Given the description of an element on the screen output the (x, y) to click on. 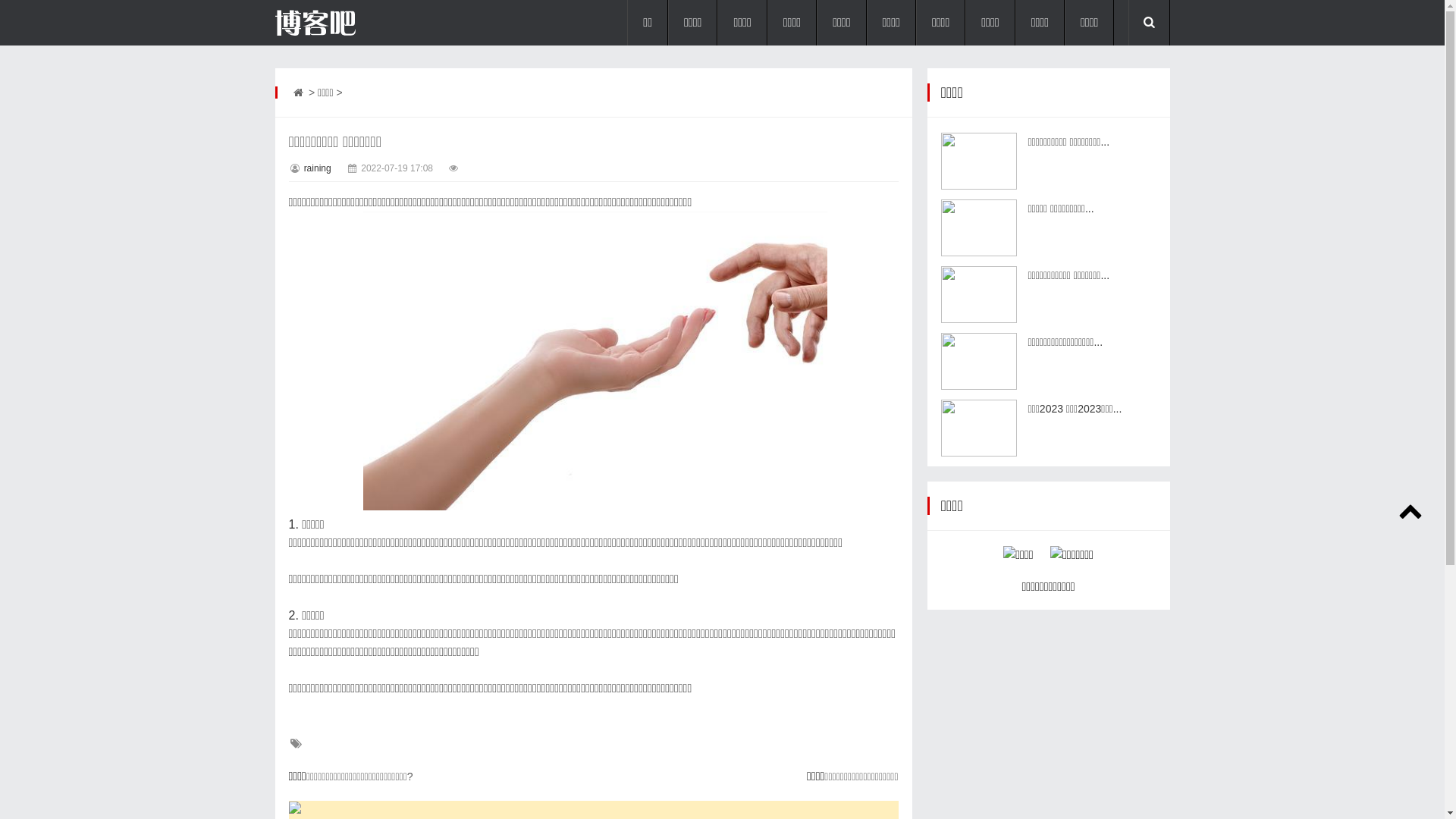
raining Element type: text (317, 168)
